Given the description of an element on the screen output the (x, y) to click on. 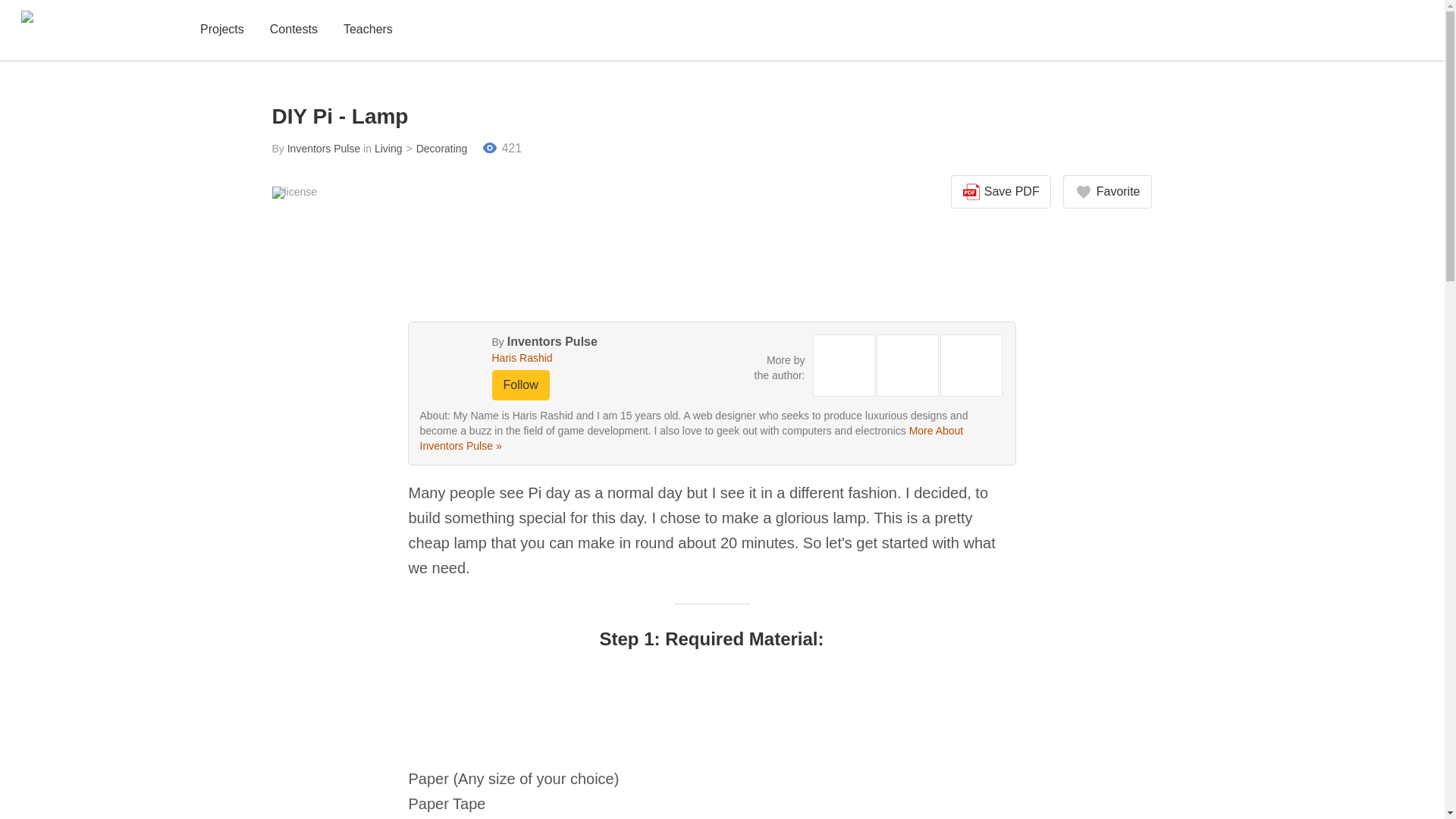
Inventors Pulse (551, 341)
Projects (221, 30)
Save PDF (1000, 191)
Teachers (368, 30)
Haris Rashid (570, 358)
Living (388, 148)
Follow (520, 385)
Favorite (1106, 191)
Inventors Pulse (323, 148)
Contests (293, 30)
